Given the description of an element on the screen output the (x, y) to click on. 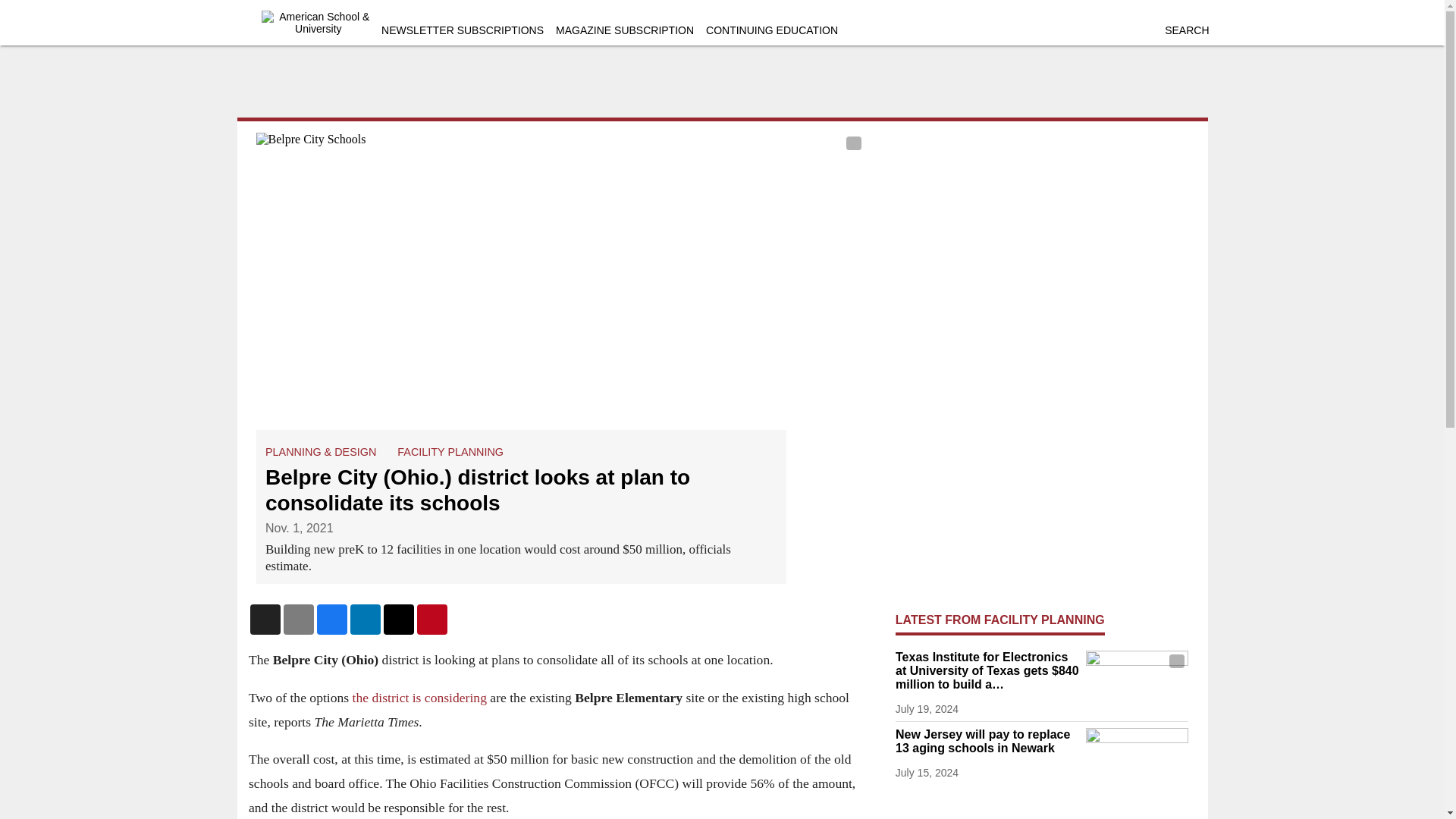
NEWSLETTER SUBSCRIPTIONS (462, 30)
New Jersey will pay to replace 13 aging schools in Newark (986, 741)
MAGAZINE SUBSCRIPTION (625, 30)
CONTINUING EDUCATION (772, 30)
the district is considering (420, 697)
SEARCH (1186, 30)
FACILITY PLANNING (450, 451)
